Given the description of an element on the screen output the (x, y) to click on. 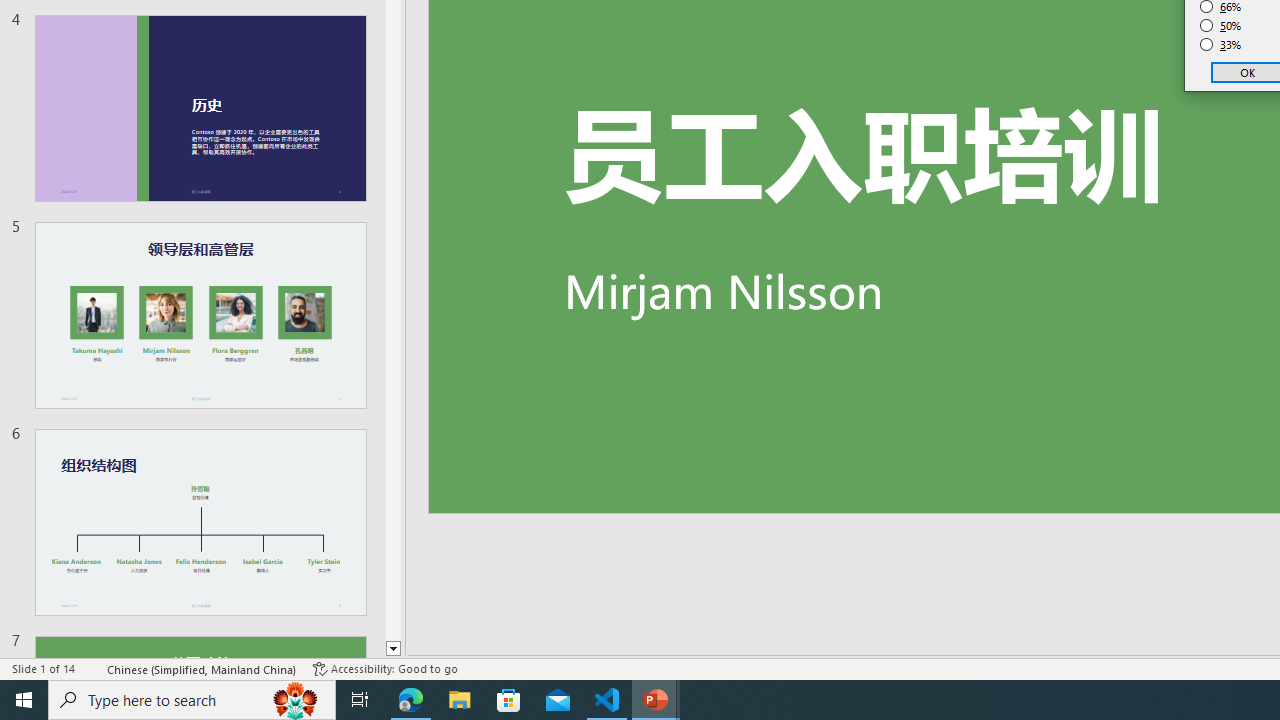
Alignment (440, 362)
